Given the description of an element on the screen output the (x, y) to click on. 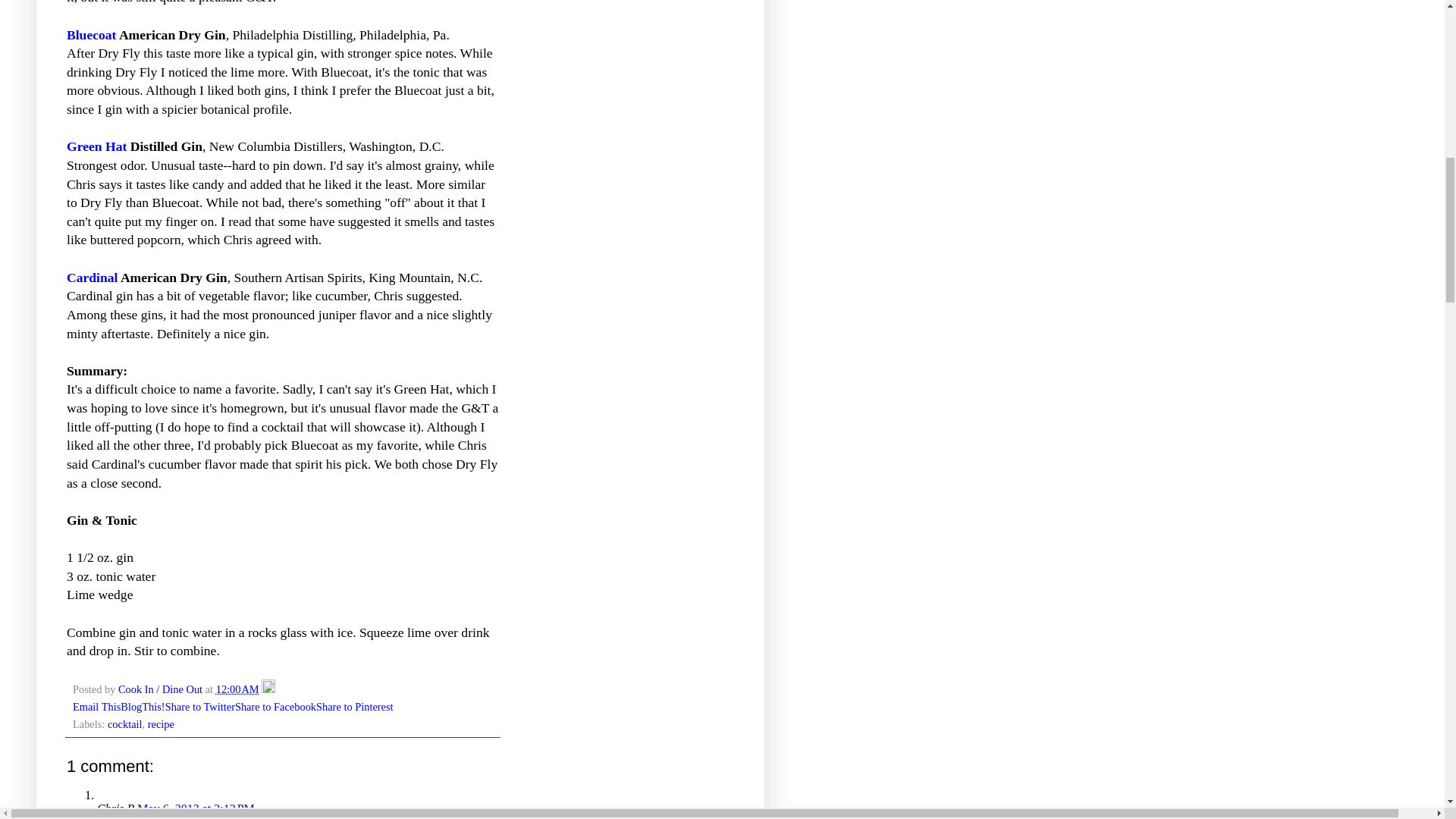
Email This (96, 706)
permanent link (237, 689)
BlogThis! (142, 706)
Share to Twitter (199, 706)
Share to Facebook (274, 706)
Share to Facebook (274, 706)
Edit Post (268, 689)
cocktail (124, 724)
Cardinal (91, 277)
